Given the description of an element on the screen output the (x, y) to click on. 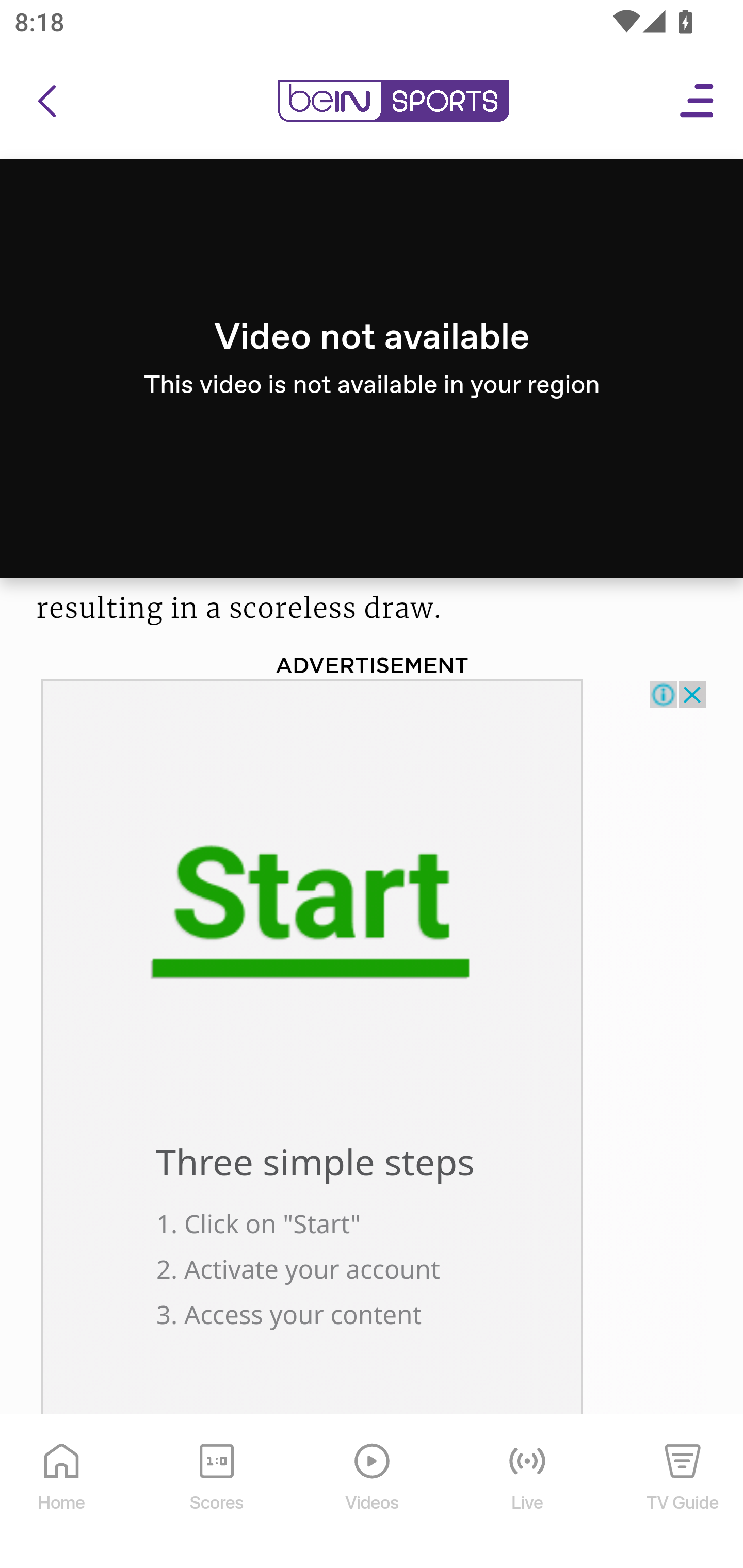
en-us?platform=mobile_android bein logo (392, 101)
icon back (46, 101)
Open Menu Icon (697, 101)
Home Home Icon Home (61, 1491)
Scores Scores Icon Scores (216, 1491)
Videos Videos Icon Videos (372, 1491)
TV Guide TV Guide Icon TV Guide (682, 1491)
